Given the description of an element on the screen output the (x, y) to click on. 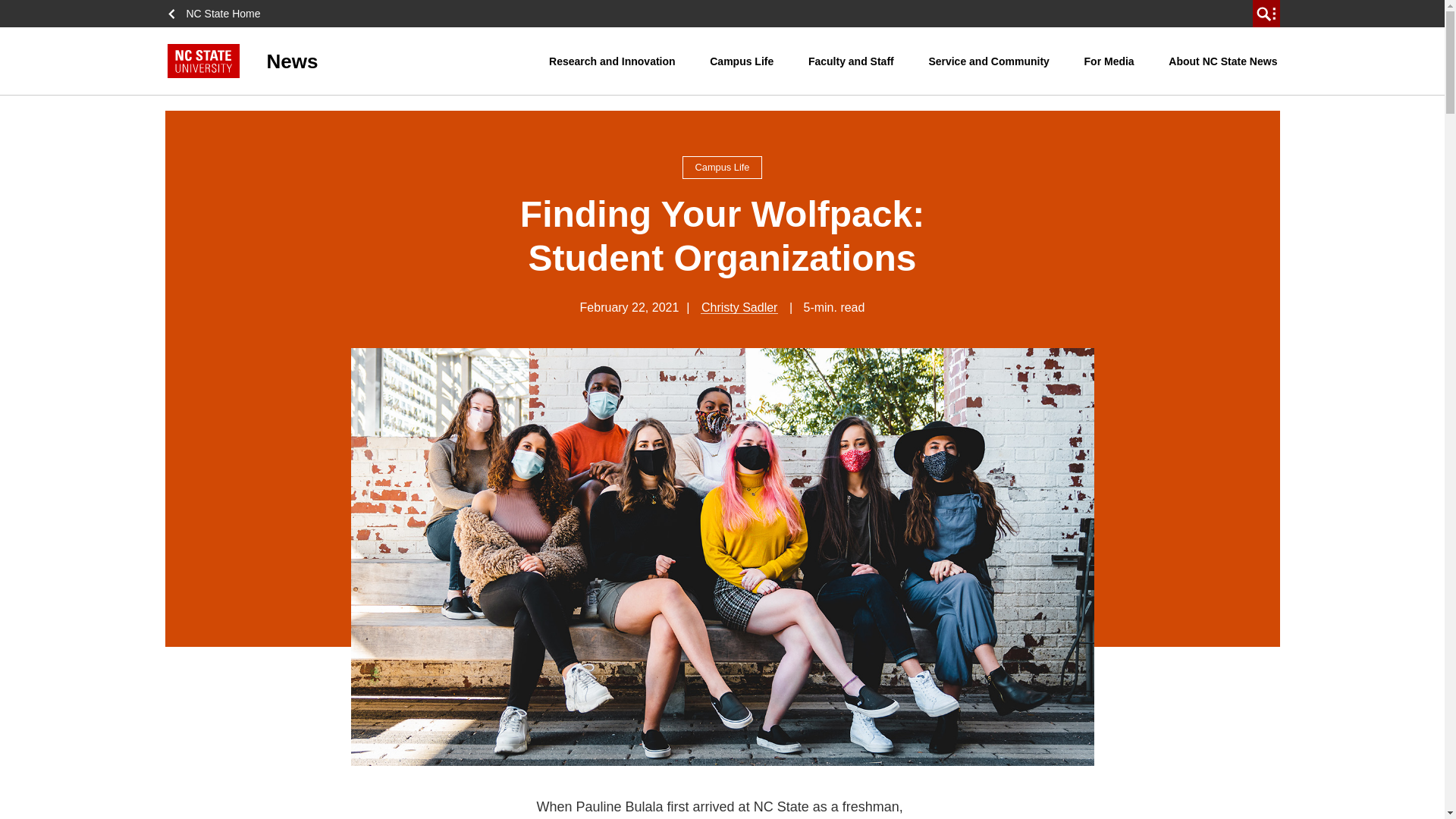
Posts by Christy Sadler (738, 307)
Research and Innovation (611, 61)
Campus Life (741, 61)
Service and Community (989, 61)
Faculty and Staff (851, 61)
NC State Home (217, 13)
News (357, 61)
